Given the description of an element on the screen output the (x, y) to click on. 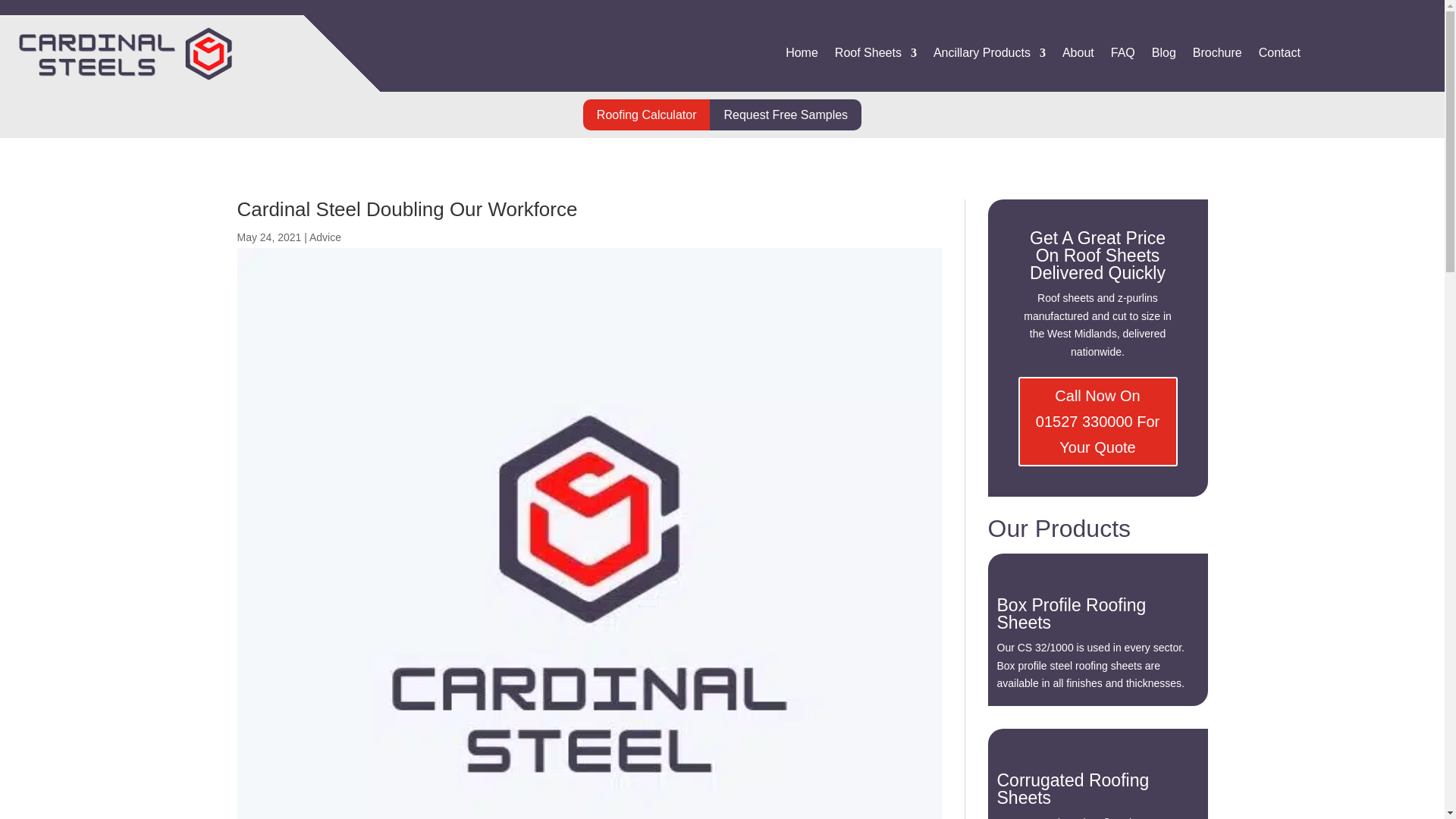
Home (802, 55)
About (1078, 55)
logo-banner-300x77-1 (127, 53)
Roof Sheets (875, 55)
Request Free Samples (785, 114)
Brochure (1216, 55)
Roofing Calculator (646, 114)
Blog (1163, 55)
Ancillary Products (989, 55)
FAQ (1122, 55)
Contact (1279, 55)
